Given the description of an element on the screen output the (x, y) to click on. 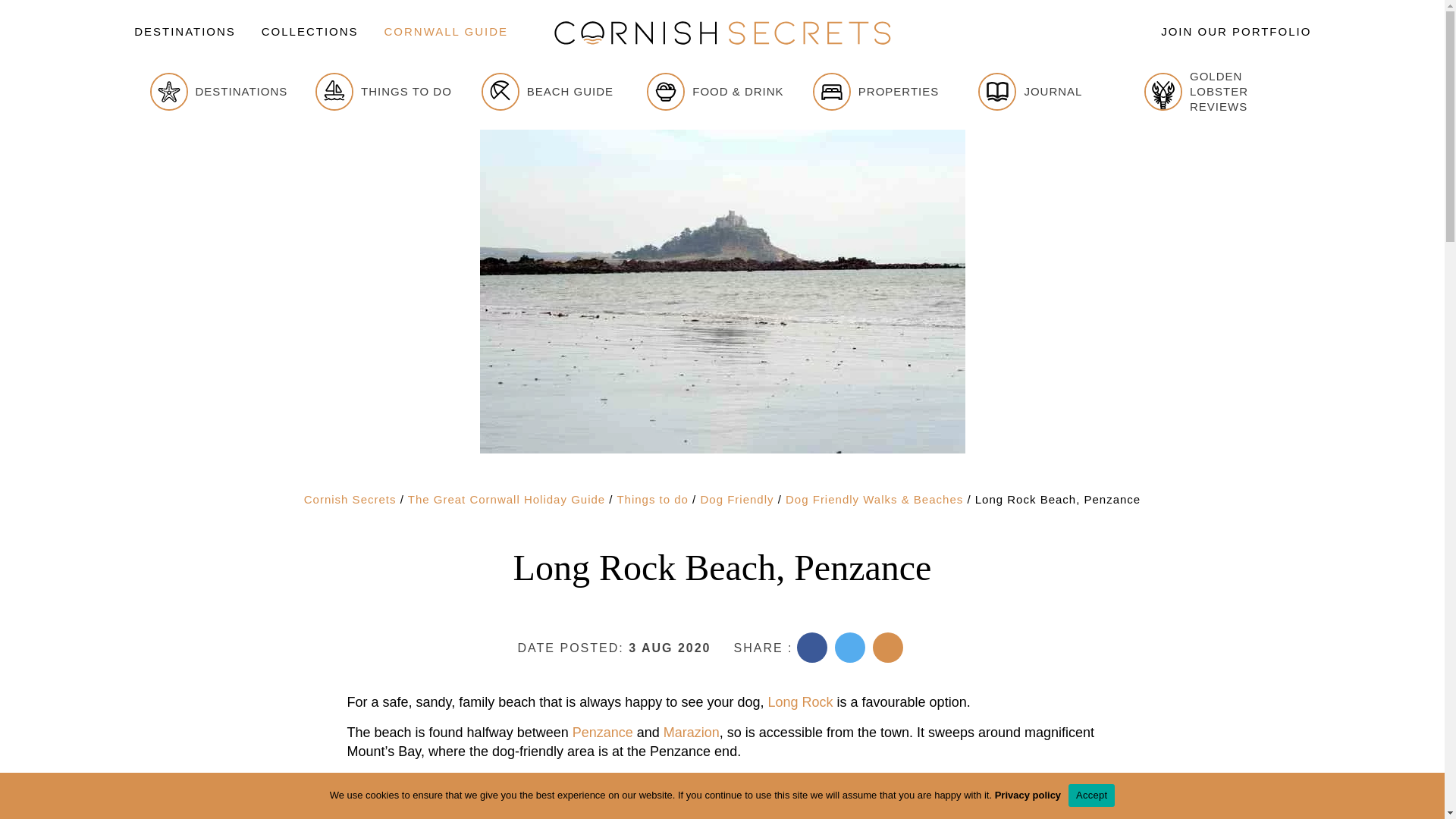
Destinations (184, 31)
DESTINATIONS (184, 31)
